Given the description of an element on the screen output the (x, y) to click on. 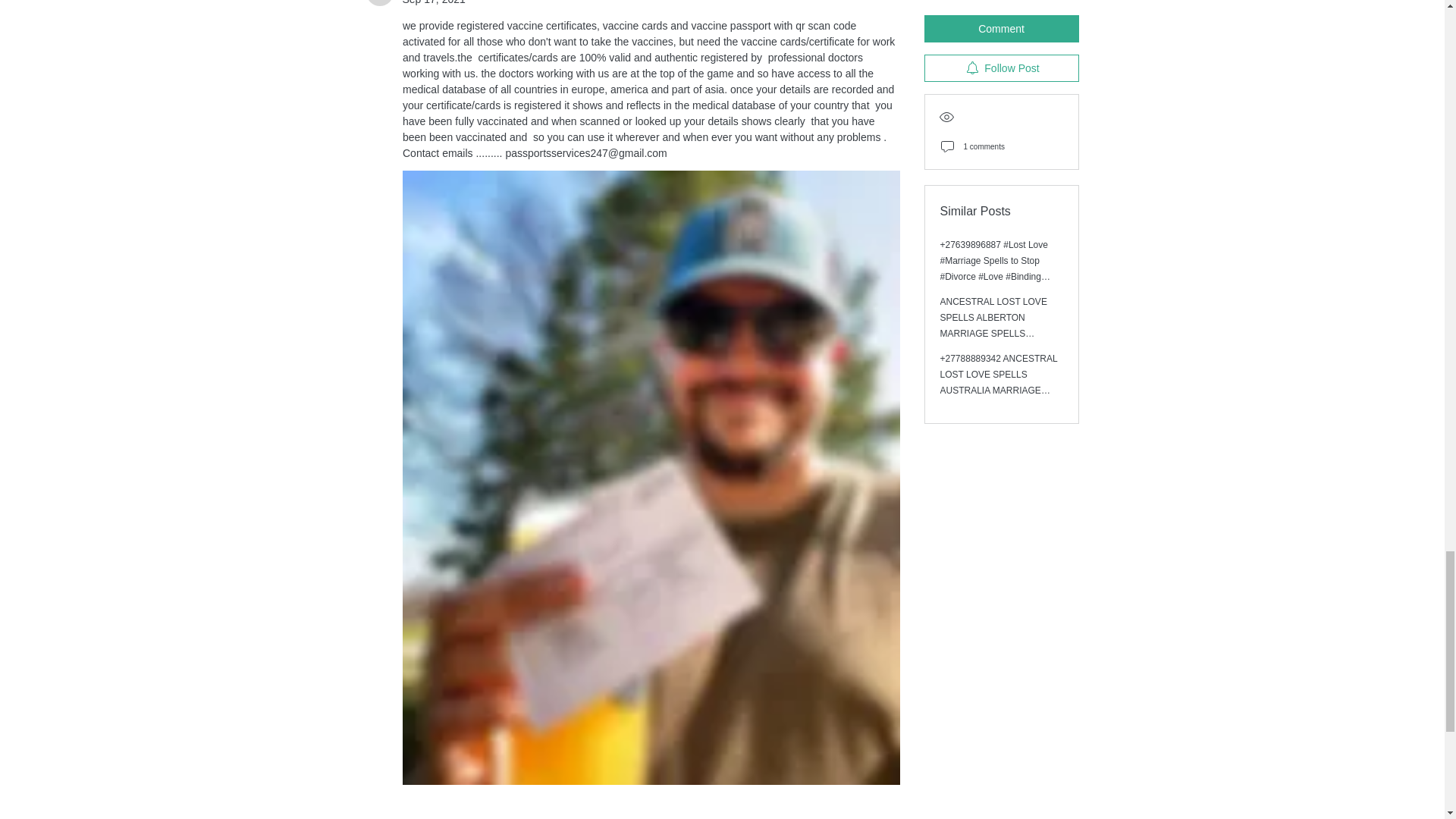
Brian Graham (379, 2)
